Given the description of an element on the screen output the (x, y) to click on. 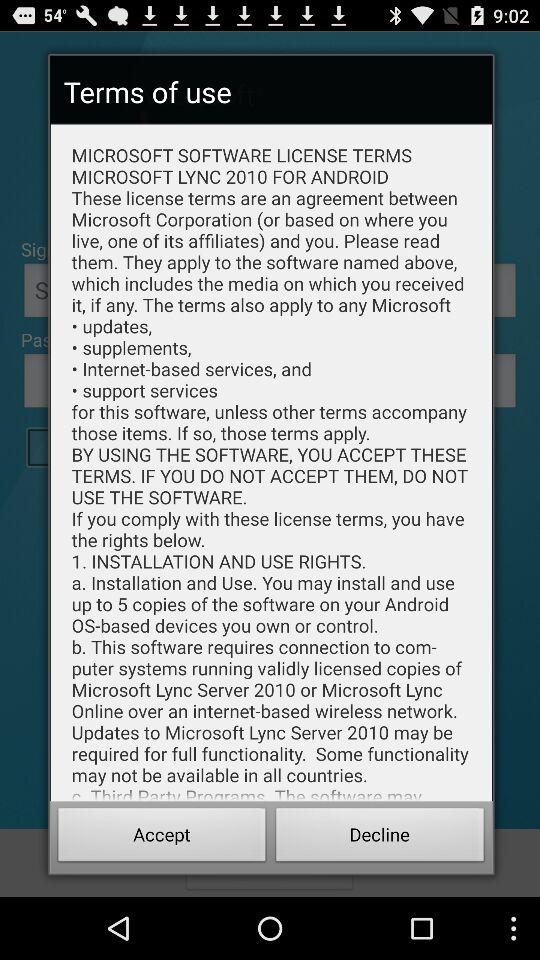
tap icon at the bottom left corner (162, 837)
